Given the description of an element on the screen output the (x, y) to click on. 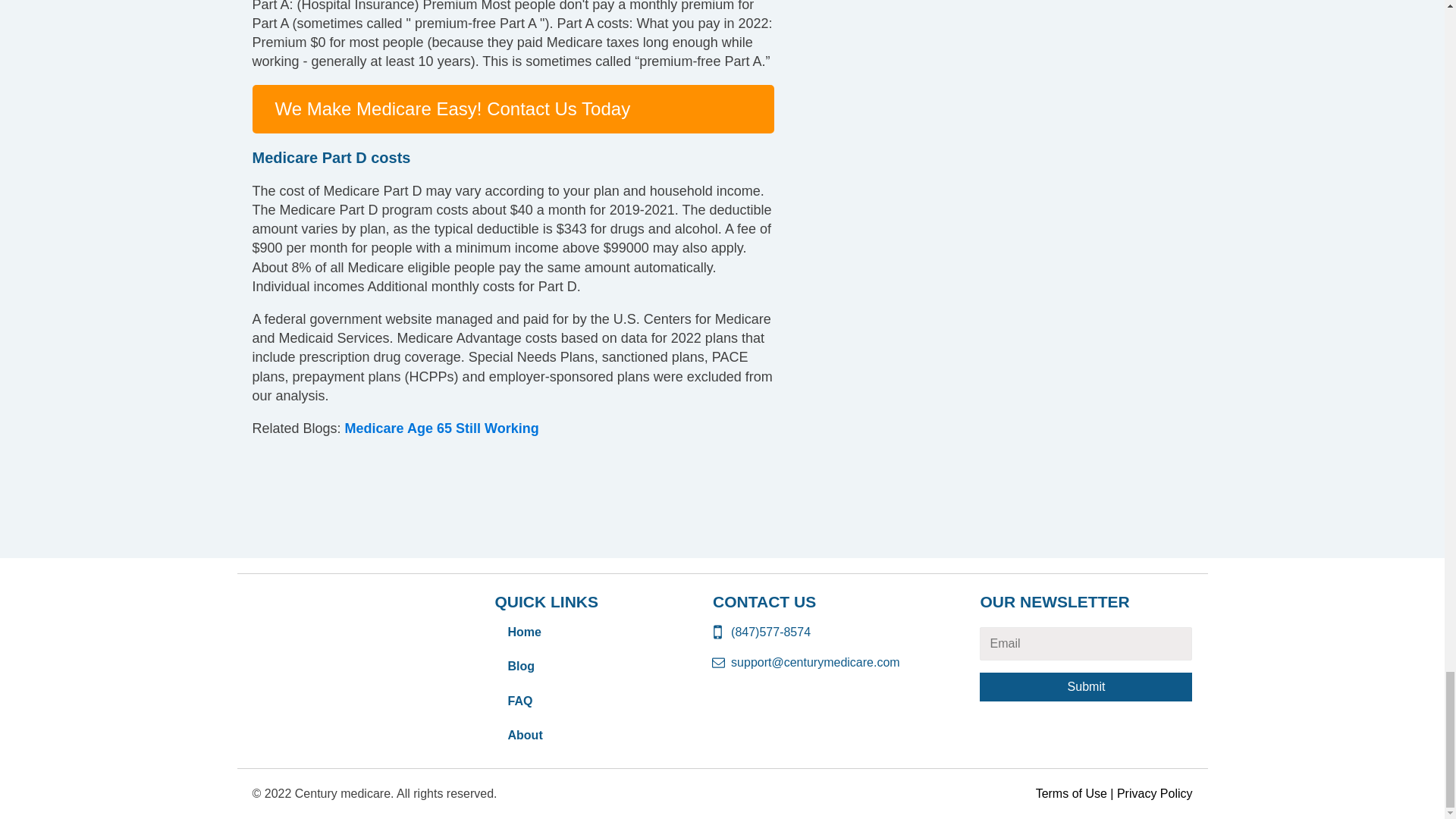
We Make Medicare Easy! Contact Us Today (452, 108)
Submit (1085, 686)
Medicare Age 65 Still Working (441, 427)
Century Medicare (340, 613)
